Given the description of an element on the screen output the (x, y) to click on. 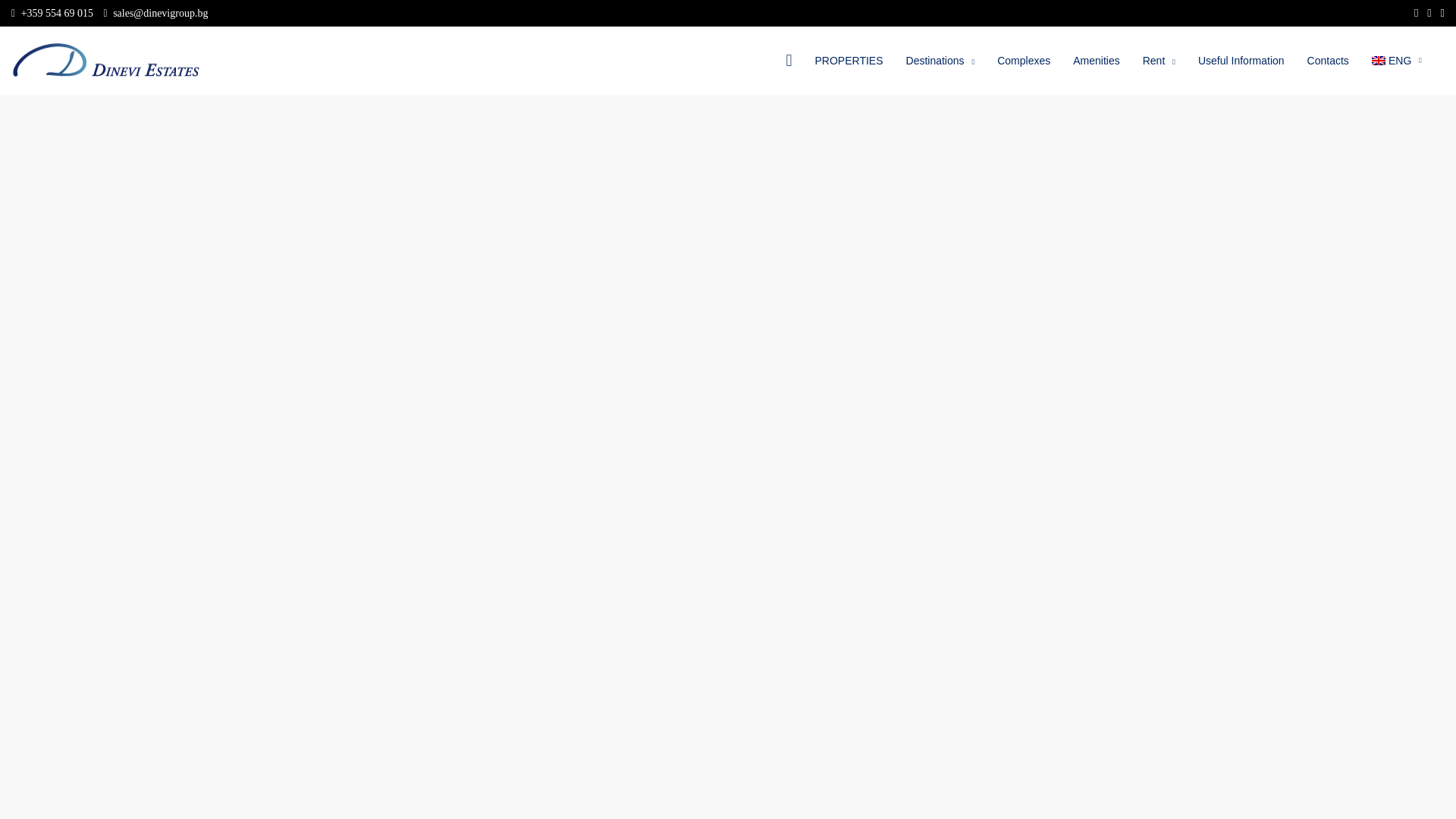
PROPERTIES (849, 60)
ENG (1395, 60)
ENG (1395, 60)
Contacts (1327, 60)
Useful Information (1240, 60)
Amenities (1096, 60)
Complexes (1023, 60)
Destinations (941, 61)
